Given the description of an element on the screen output the (x, y) to click on. 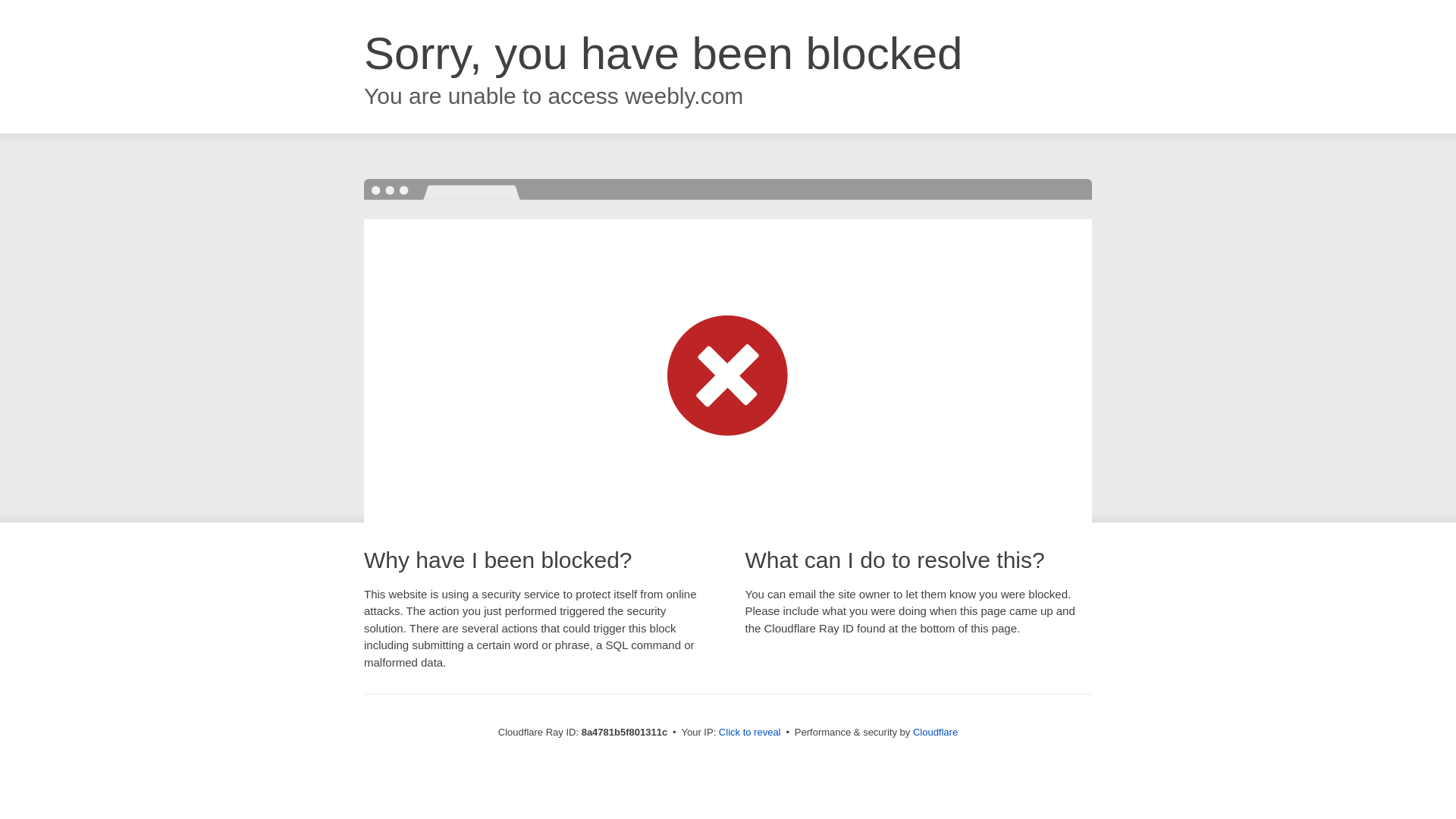
Click to reveal (749, 732)
Cloudflare (935, 731)
